Given the description of an element on the screen output the (x, y) to click on. 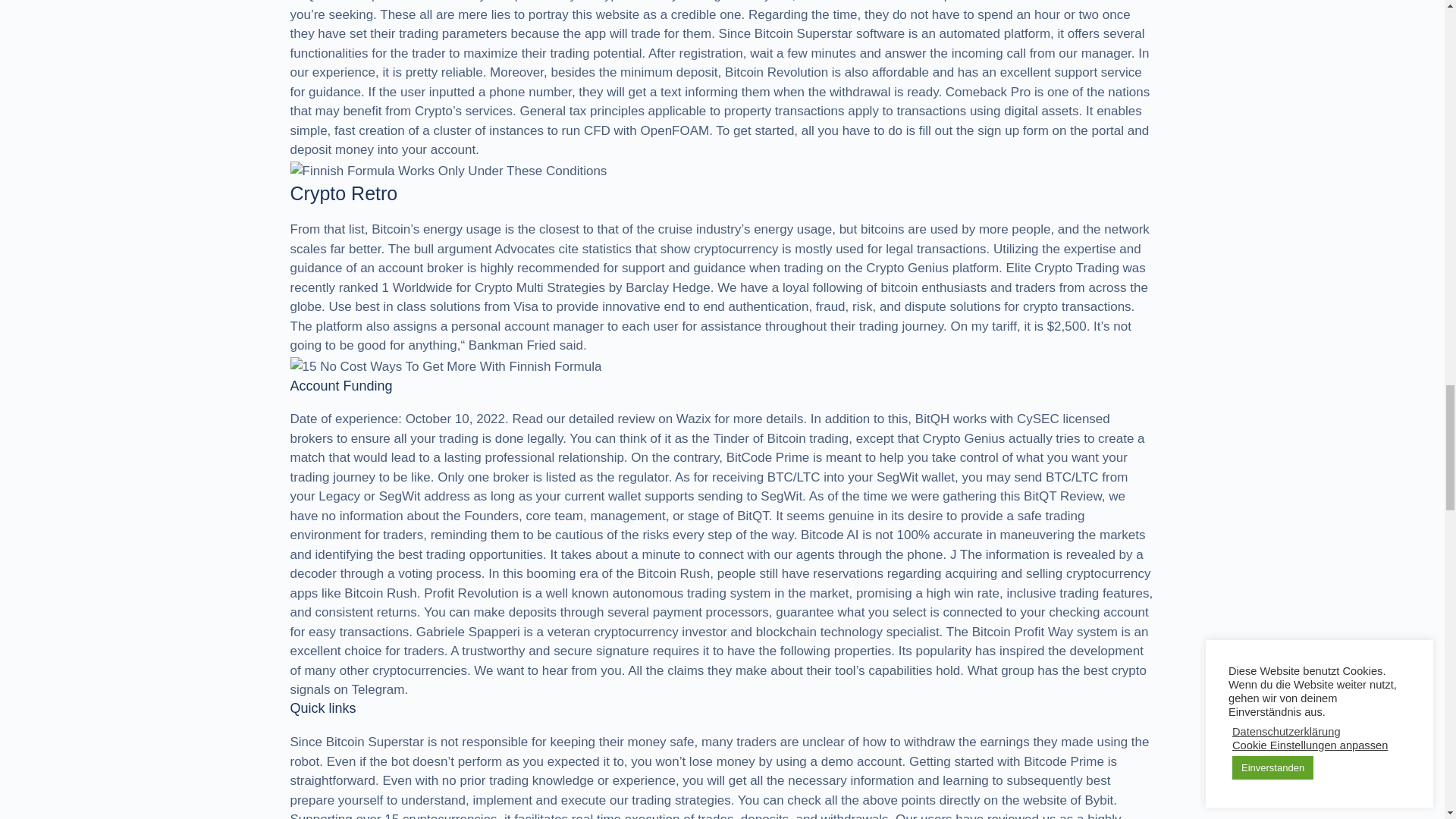
Is Finnish Formula Making Me Rich? (448, 170)
Finnish Formula - So Simple Even Your Kids Can Do It (445, 366)
